Given the description of an element on the screen output the (x, y) to click on. 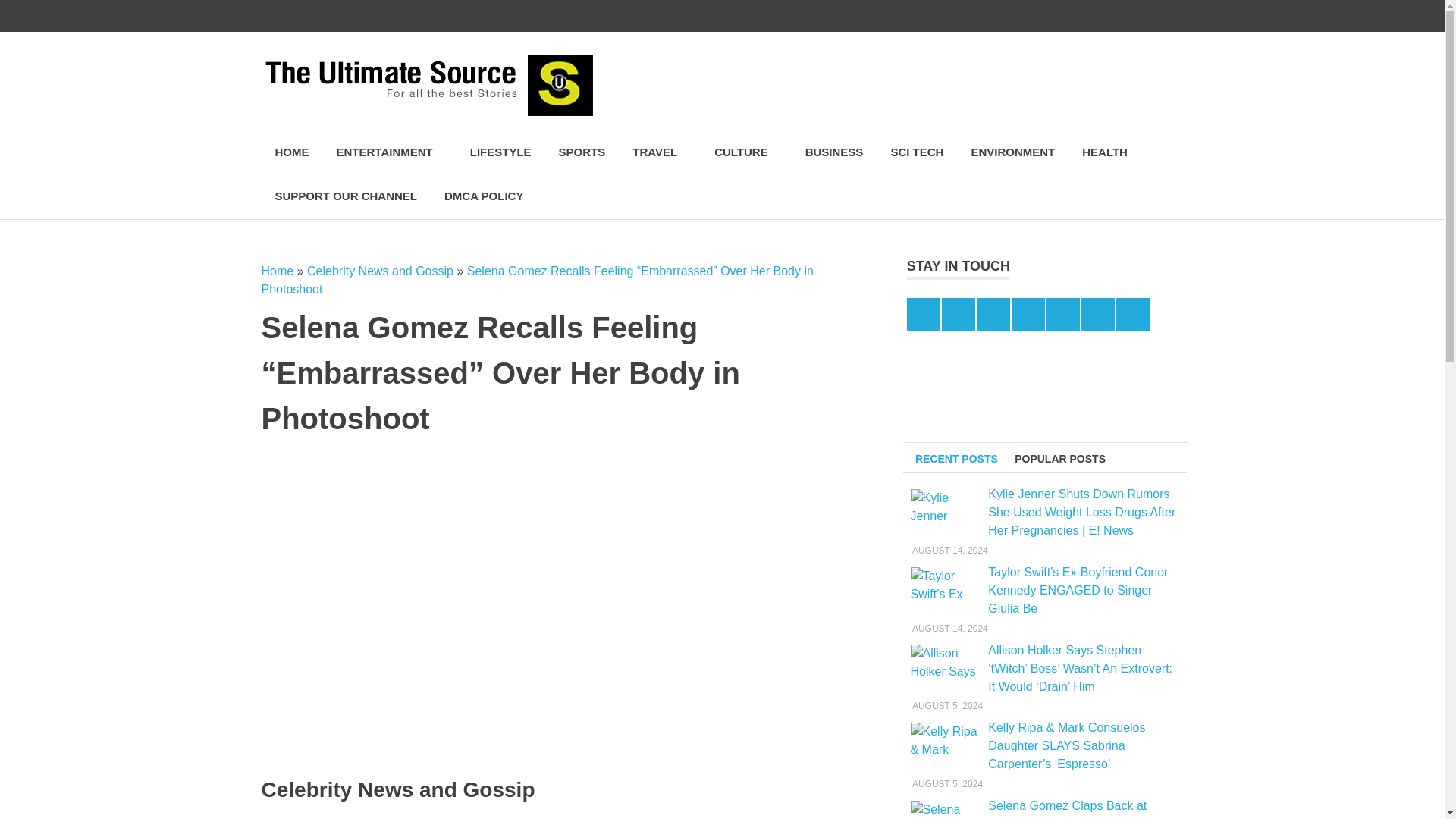
Home (277, 270)
Pinterest (1039, 15)
Facebook (975, 15)
SCI TECH (916, 152)
Telegram (1103, 15)
Home (277, 270)
BUSINESS (834, 152)
ENVIRONMENT (1012, 152)
TRAVEL (659, 152)
